Given the description of an element on the screen output the (x, y) to click on. 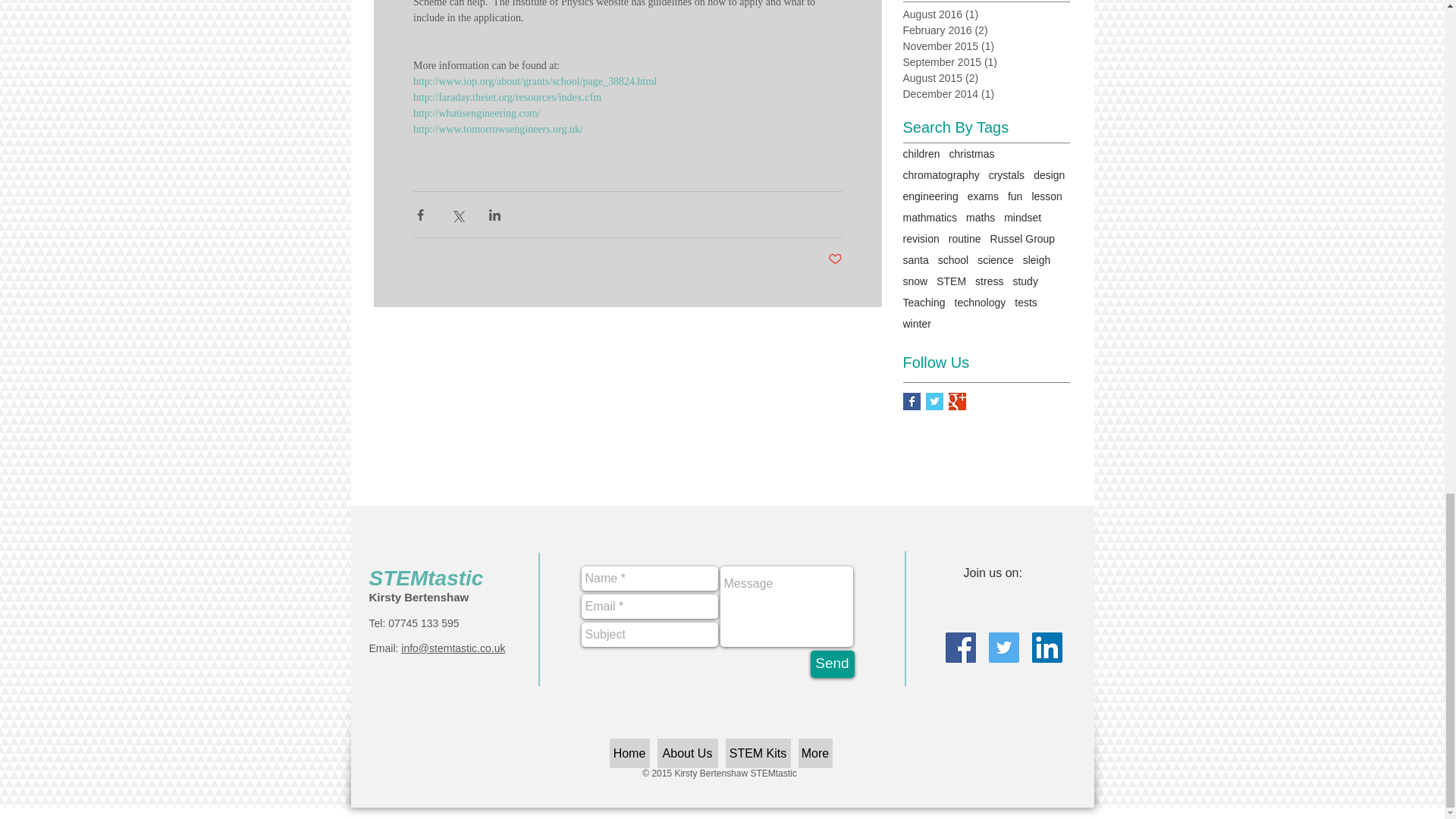
crystals (1006, 174)
chromatography (940, 174)
Post not marked as liked (835, 259)
children (920, 153)
christmas (971, 153)
